Given the description of an element on the screen output the (x, y) to click on. 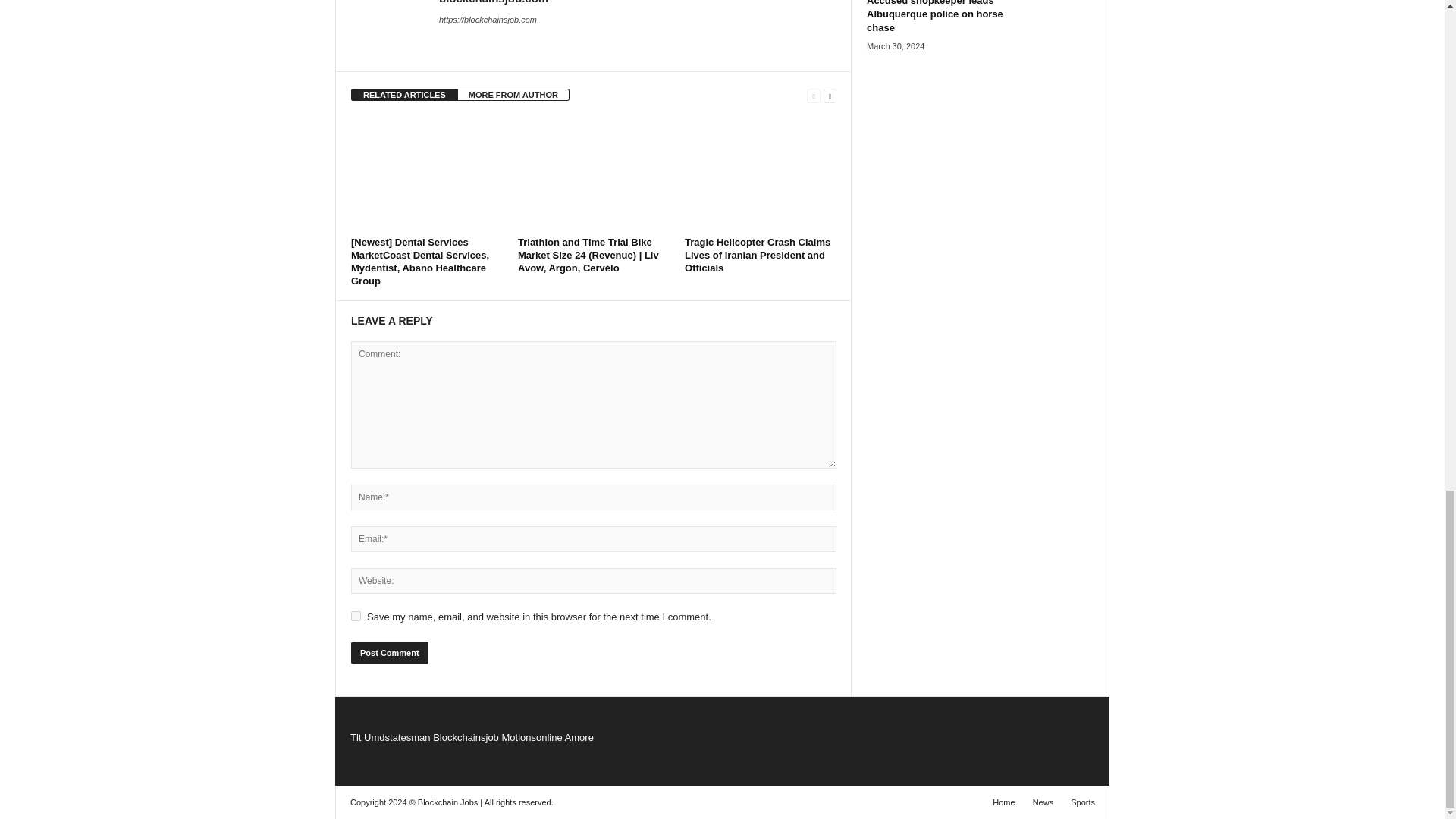
Post Comment (389, 652)
RELATED ARTICLES (404, 94)
MORE FROM AUTHOR (513, 94)
yes (355, 615)
blockchainsjob.com (493, 2)
